Given the description of an element on the screen output the (x, y) to click on. 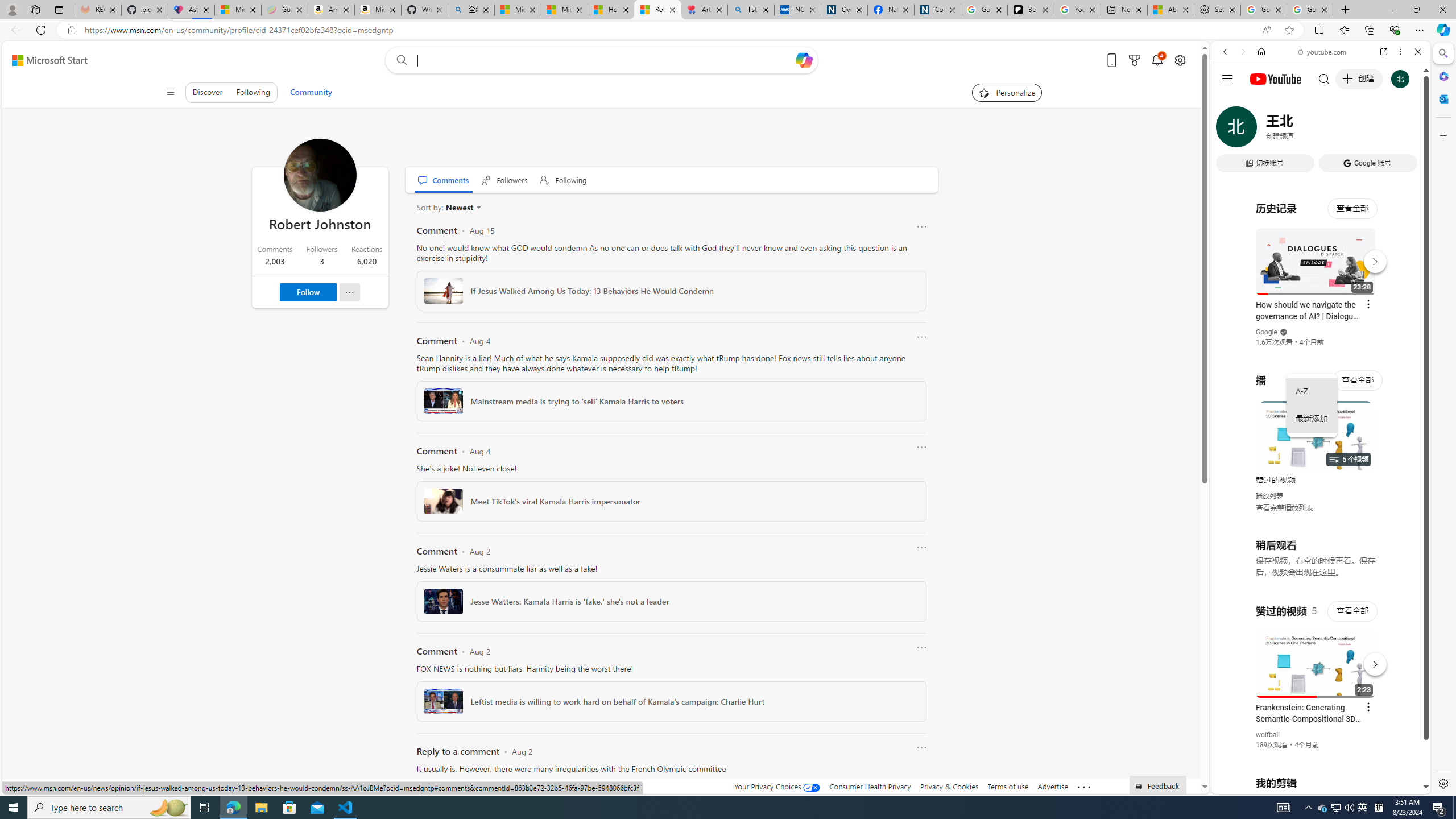
Profile Picture (319, 174)
Class: oneFooter_seeMore-DS-EntryPoint1-1 (1083, 786)
US[ju] (1249, 785)
Personalize your feed" (1007, 92)
